Given the description of an element on the screen output the (x, y) to click on. 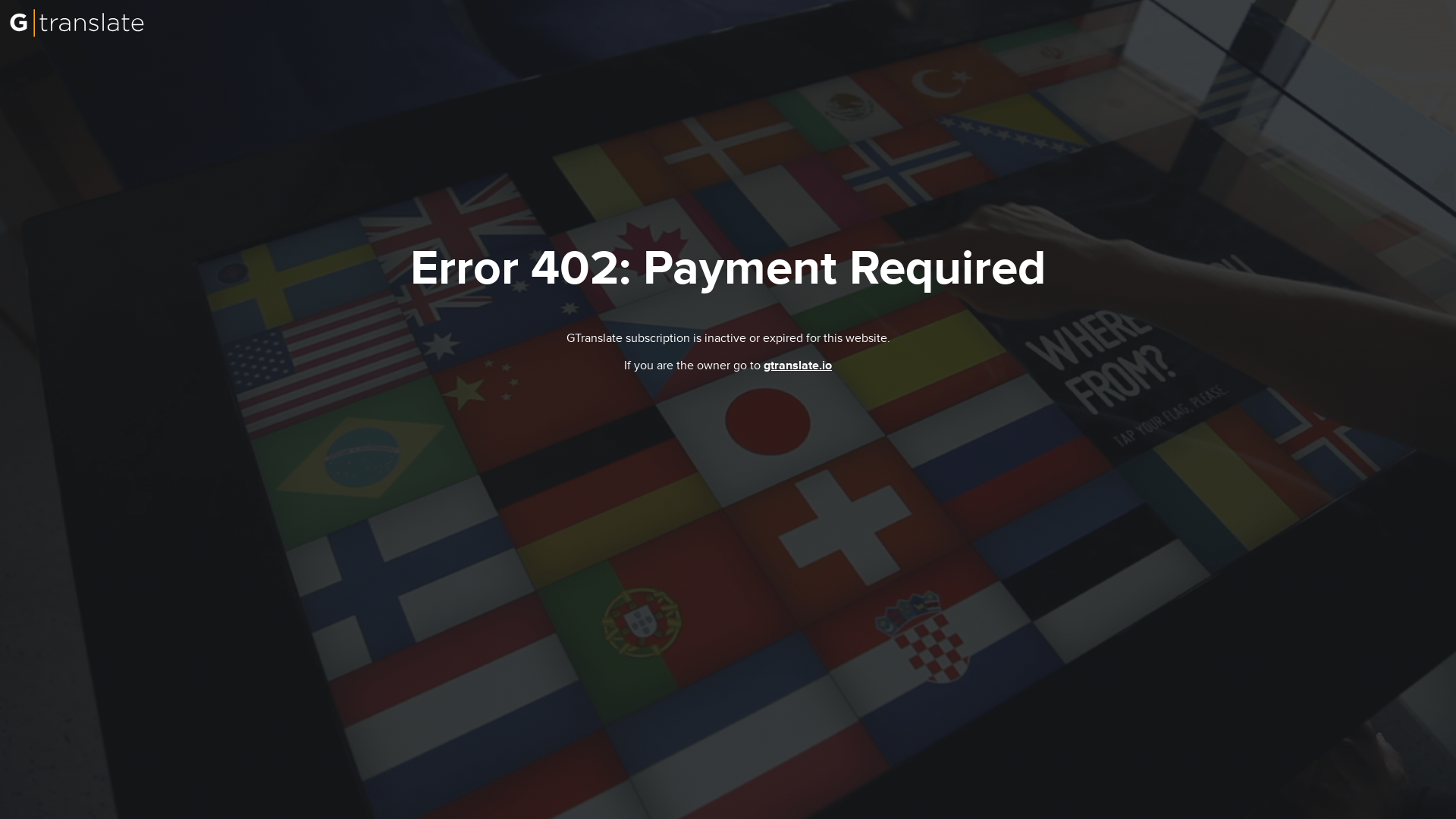
gtranslate.io (796, 365)
